Given the description of an element on the screen output the (x, y) to click on. 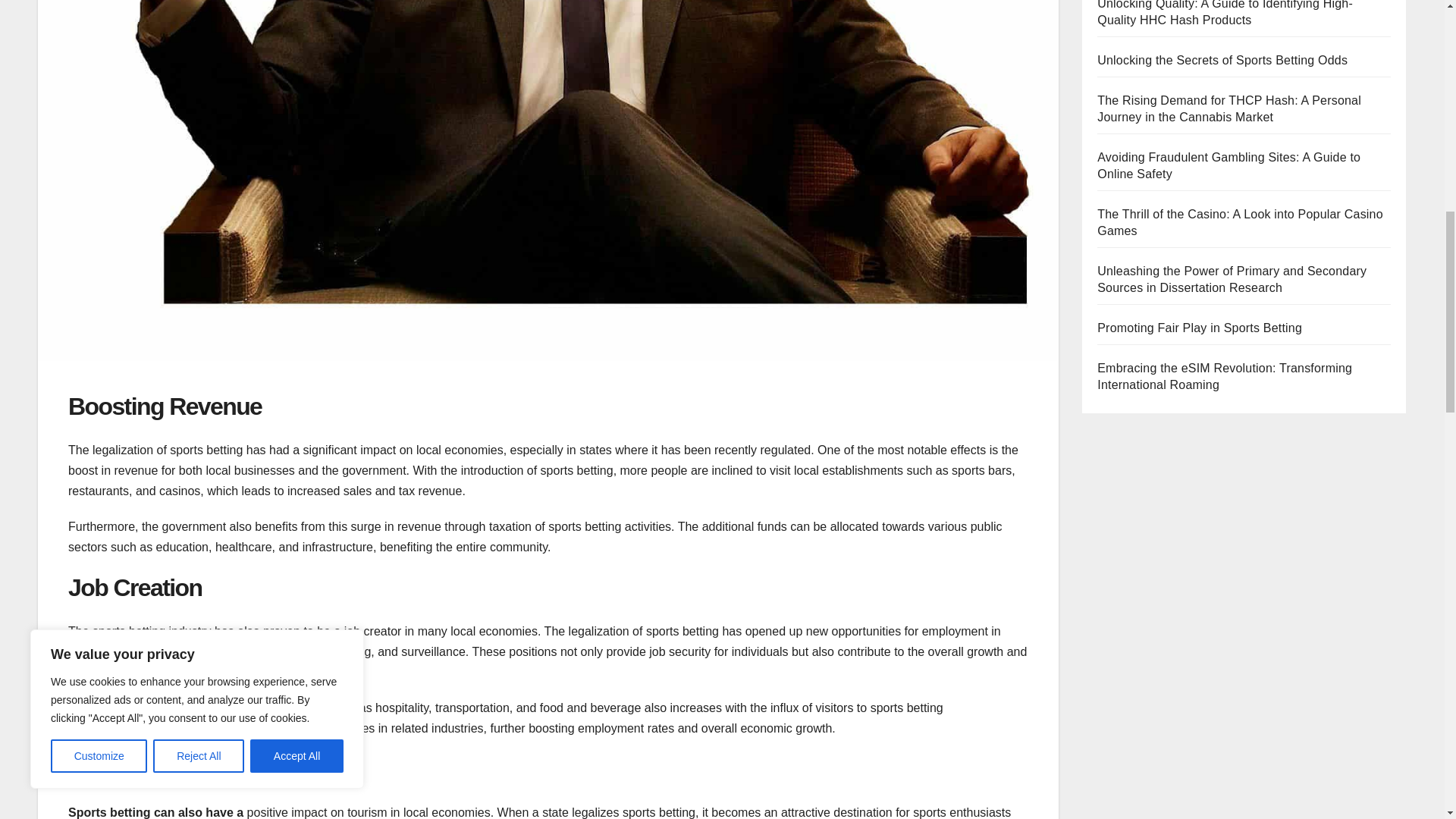
stability (87, 671)
